Given the description of an element on the screen output the (x, y) to click on. 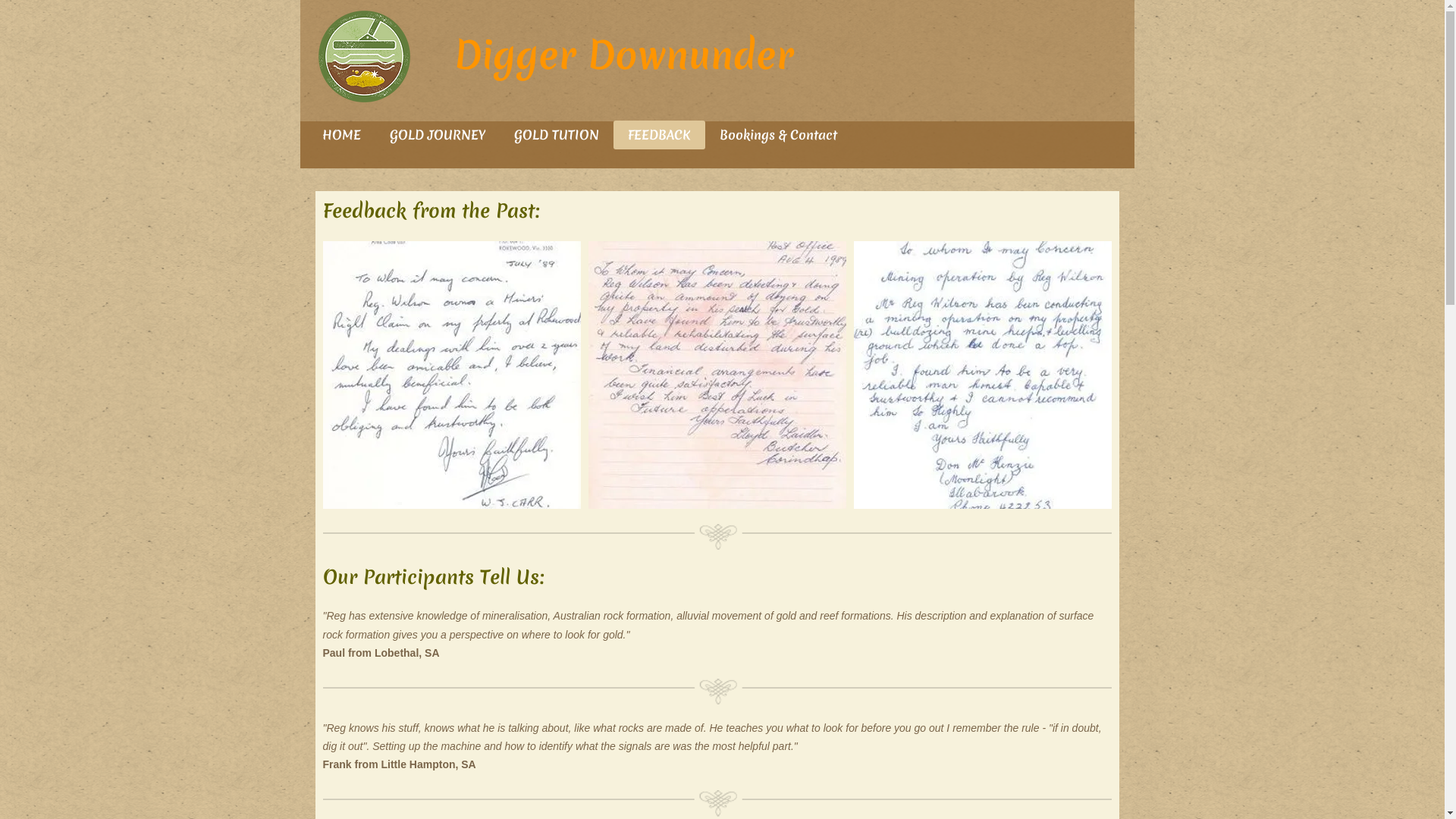
FEEDBACK Element type: text (658, 134)
HOME Element type: text (341, 134)
Bookings & Contact Element type: text (778, 134)
GOLD JOURNEY Element type: text (436, 134)
GOLD TUTION Element type: text (555, 134)
